Given the description of an element on the screen output the (x, y) to click on. 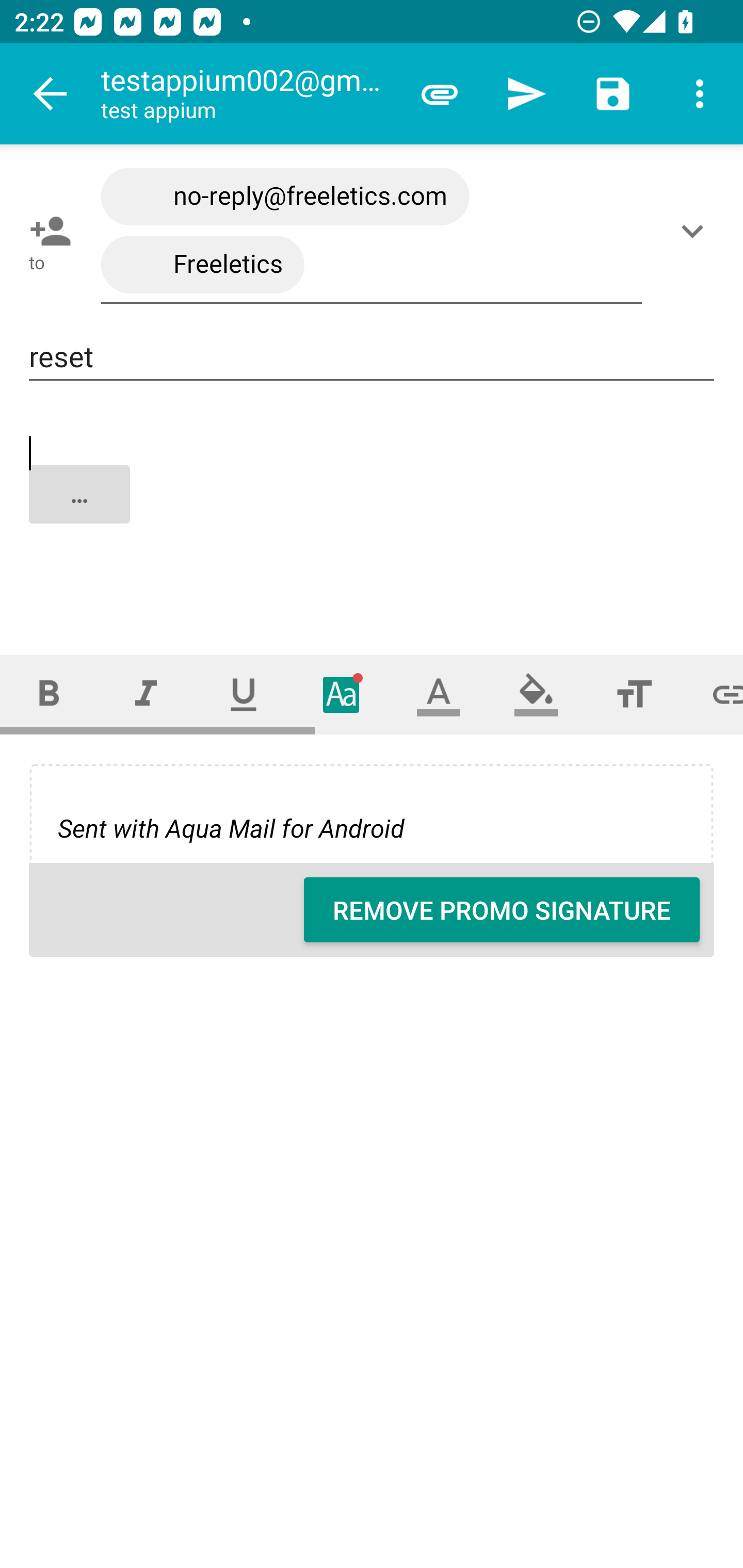
Navigate up (50, 93)
testappium002@gmail.com test appium (248, 93)
Attach (439, 93)
Send (525, 93)
Save (612, 93)
More options (699, 93)
Pick contact: To (46, 231)
Show/Add CC/BCC (696, 231)
reset (371, 356)

…
 (372, 511)
Bold (48, 694)
Italic (145, 694)
Underline (243, 694)
Typeface (font) (341, 694)
Text color (438, 694)
Fill color (536, 694)
Font size (633, 694)
REMOVE PROMO SIGNATURE (501, 910)
